Given the description of an element on the screen output the (x, y) to click on. 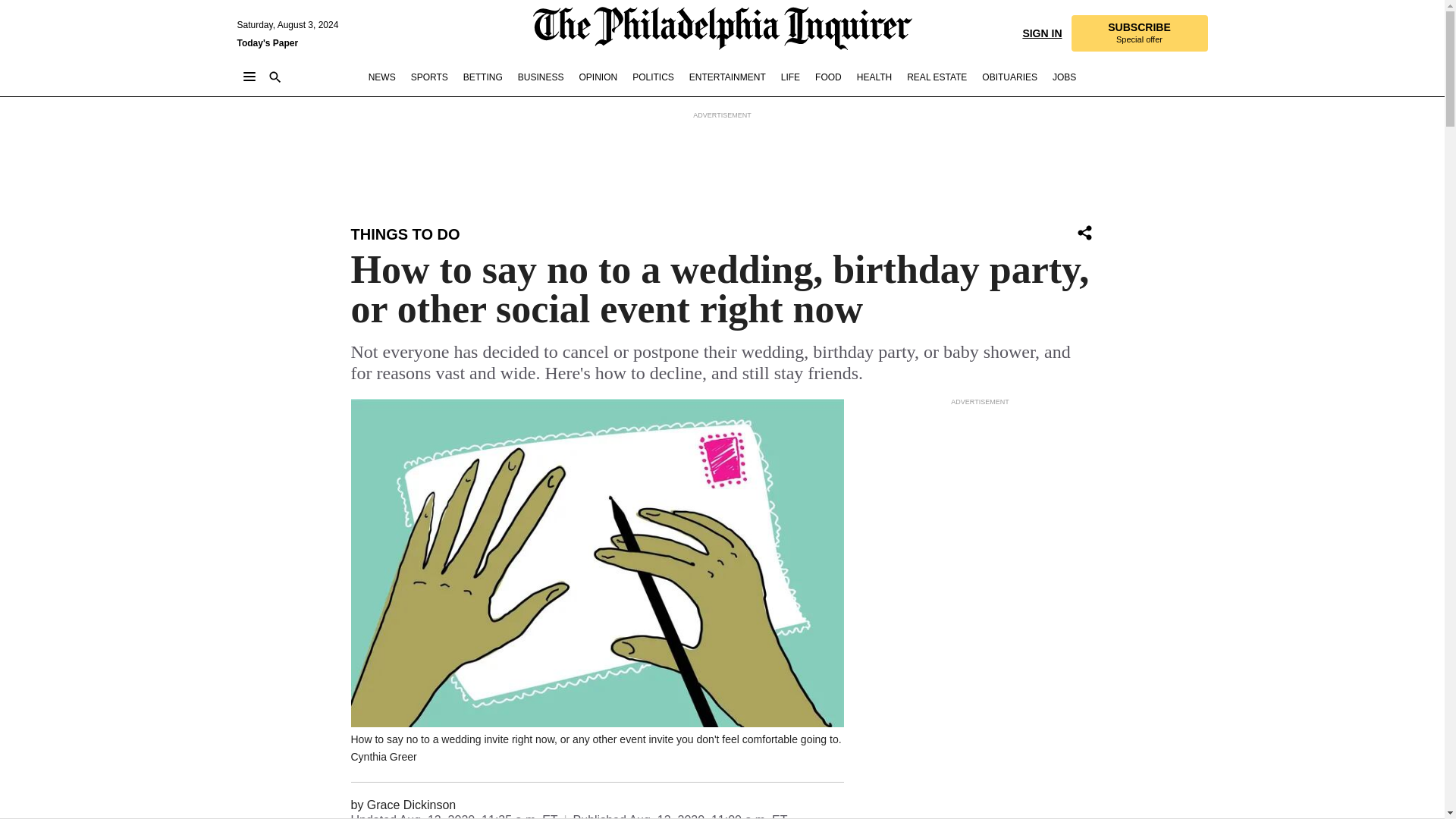
LIFE (789, 77)
HEALTH (874, 77)
NEWS (382, 77)
FOOD (828, 77)
BETTING (1138, 33)
OPINION (482, 77)
JOBS (597, 77)
BUSINESS (1063, 77)
Things To Do (541, 77)
Share Icon (405, 234)
SPORTS (1084, 232)
POLITICS (429, 77)
REAL ESTATE (652, 77)
Today's Paper (936, 77)
